Given the description of an element on the screen output the (x, y) to click on. 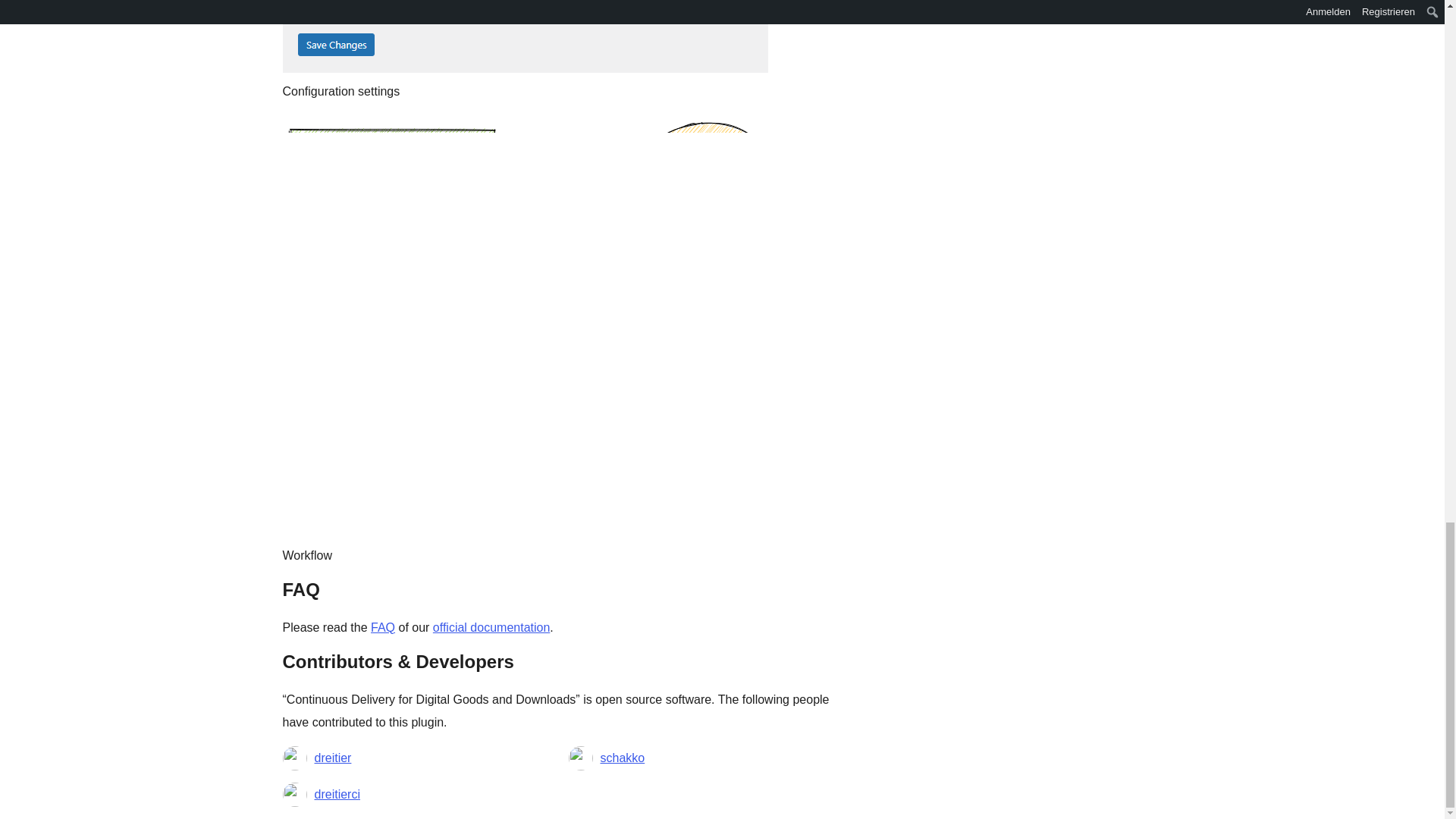
dreitierci (336, 793)
schakko (622, 757)
official documentation (491, 626)
FAQ (382, 626)
dreitier (332, 757)
